Given the description of an element on the screen output the (x, y) to click on. 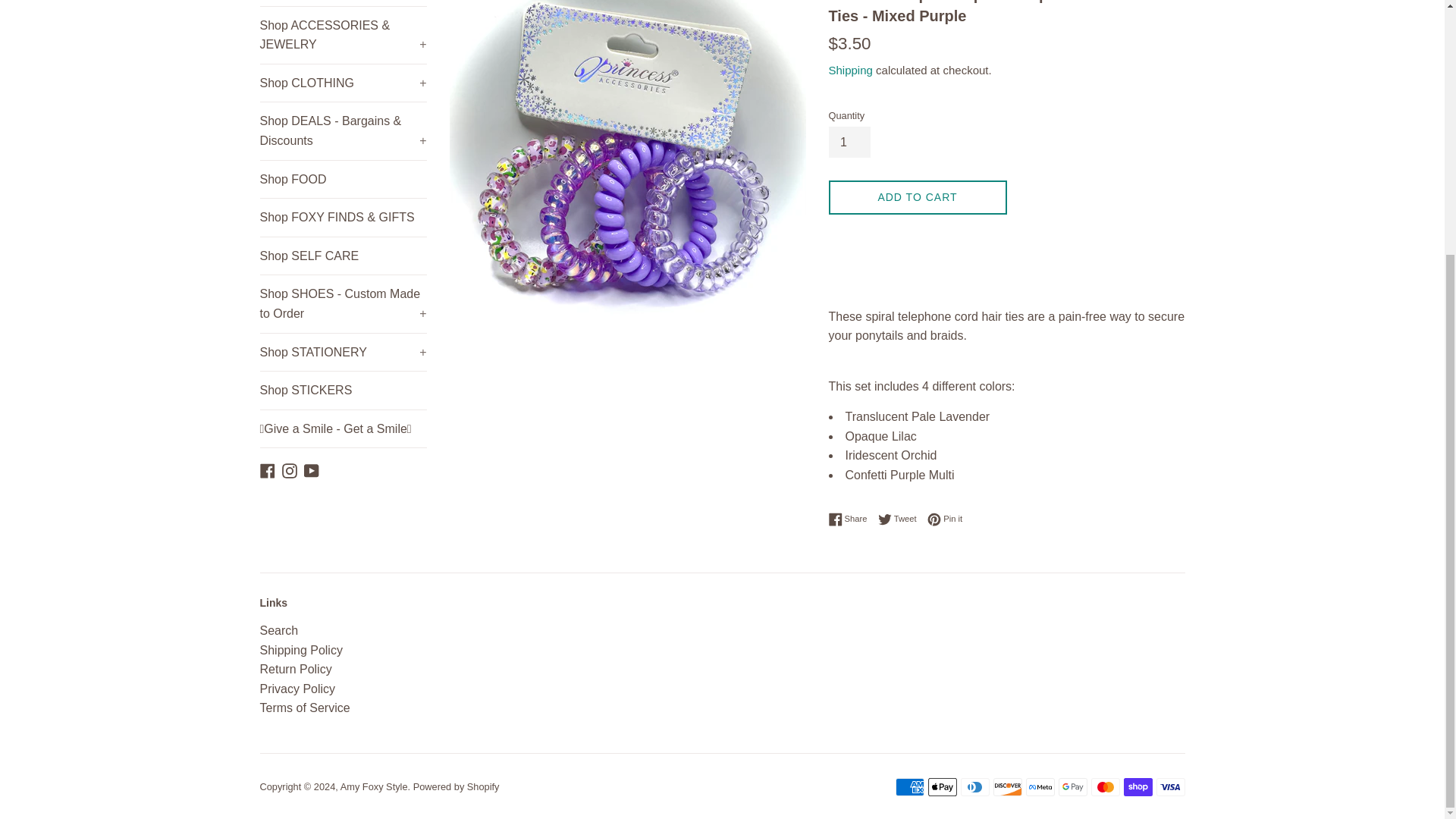
Discover (1007, 787)
Shop Pay (1138, 787)
Meta Pay (1039, 787)
Amy Foxy Style on Facebook (267, 469)
American Express (909, 787)
Mastercard (1104, 787)
Amy Foxy Style on YouTube (311, 469)
Amy Foxy Style on Instagram (289, 469)
Apple Pay (942, 787)
Shop FOOD (342, 179)
